Given the description of an element on the screen output the (x, y) to click on. 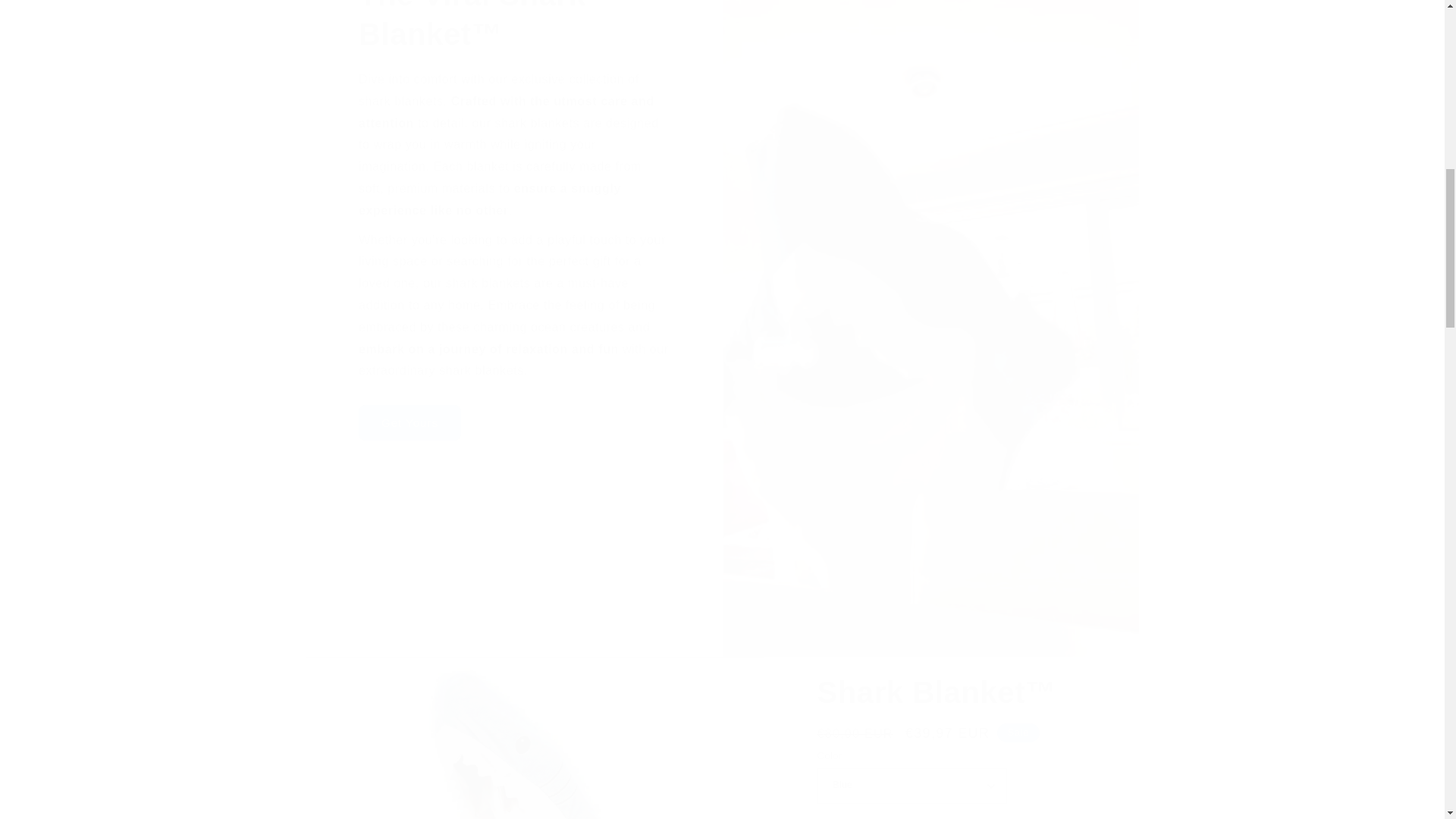
Get Yours (409, 422)
Open media featured in modal (533, 738)
